Given the description of an element on the screen output the (x, y) to click on. 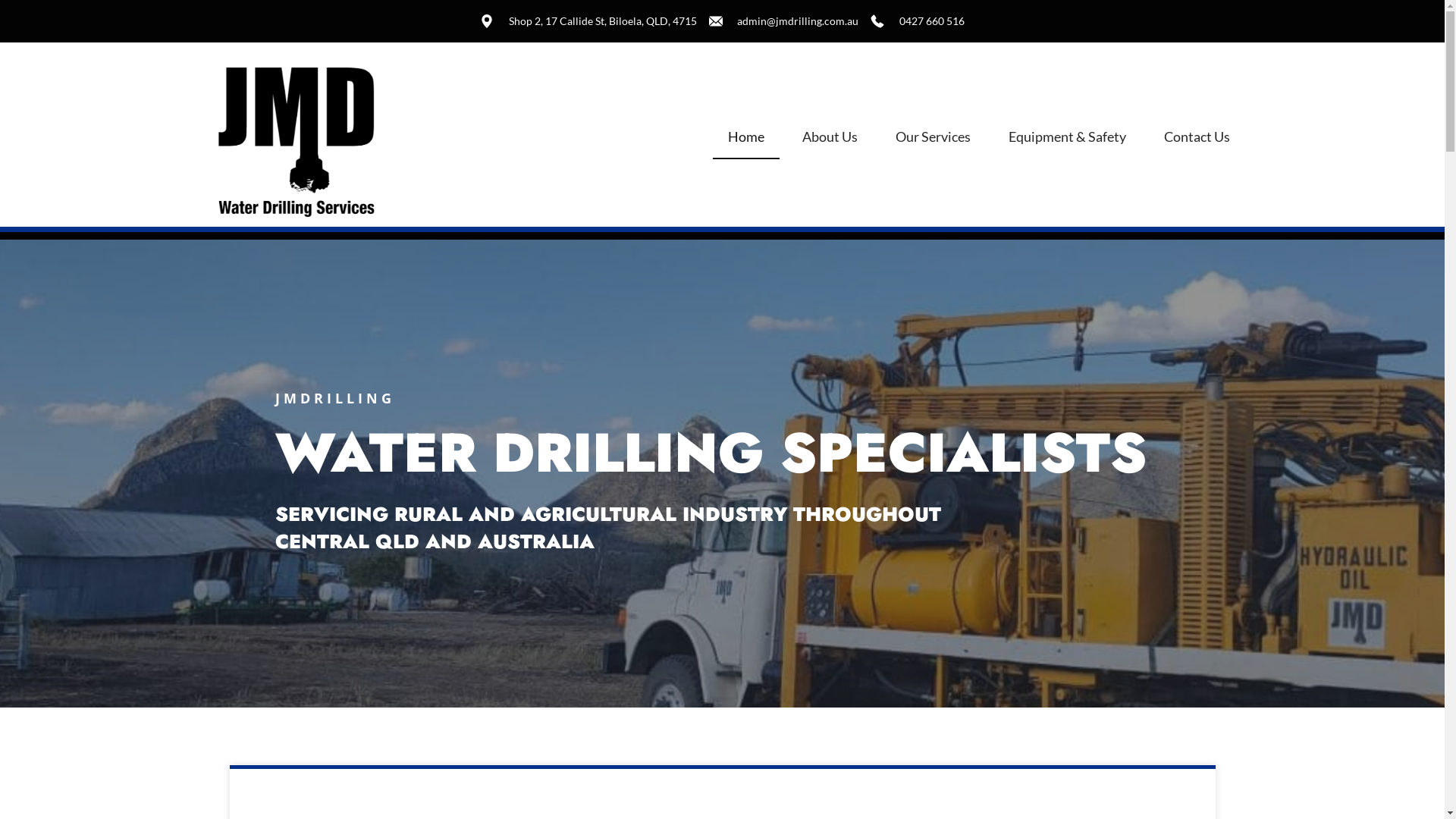
Home Element type: text (745, 136)
admin@jmdrilling.com.au Element type: text (784, 20)
Shop 2, 17 Callide St, Biloela, QLD, 4715 Element type: text (588, 20)
Contact Us Element type: text (1196, 136)
Equipment & Safety Element type: text (1067, 136)
About Us Element type: text (829, 136)
0427 660 516 Element type: text (917, 20)
Our Services Element type: text (932, 136)
